Given the description of an element on the screen output the (x, y) to click on. 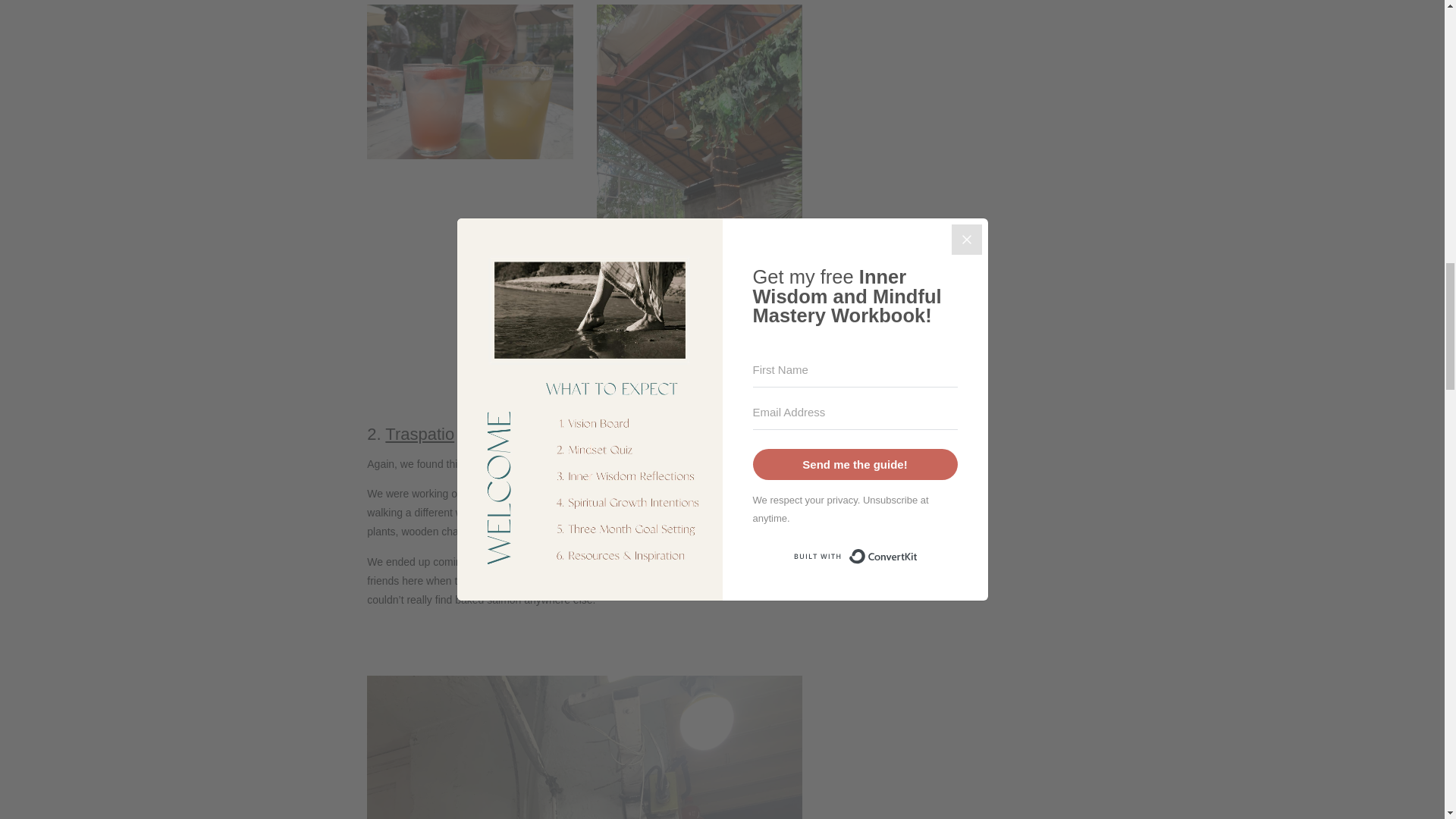
Traspatio (419, 434)
2. (375, 434)
